Given the description of an element on the screen output the (x, y) to click on. 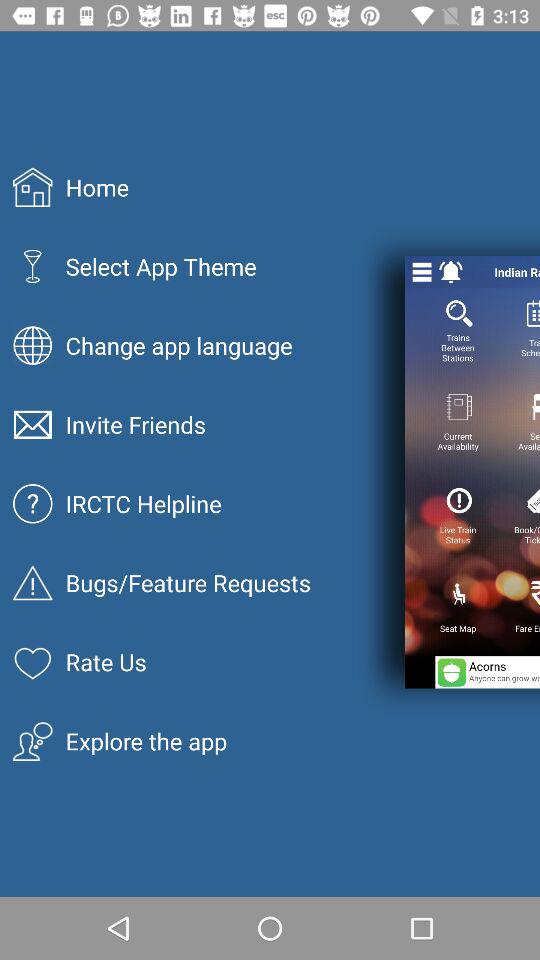
close/open page options button (422, 271)
